Given the description of an element on the screen output the (x, y) to click on. 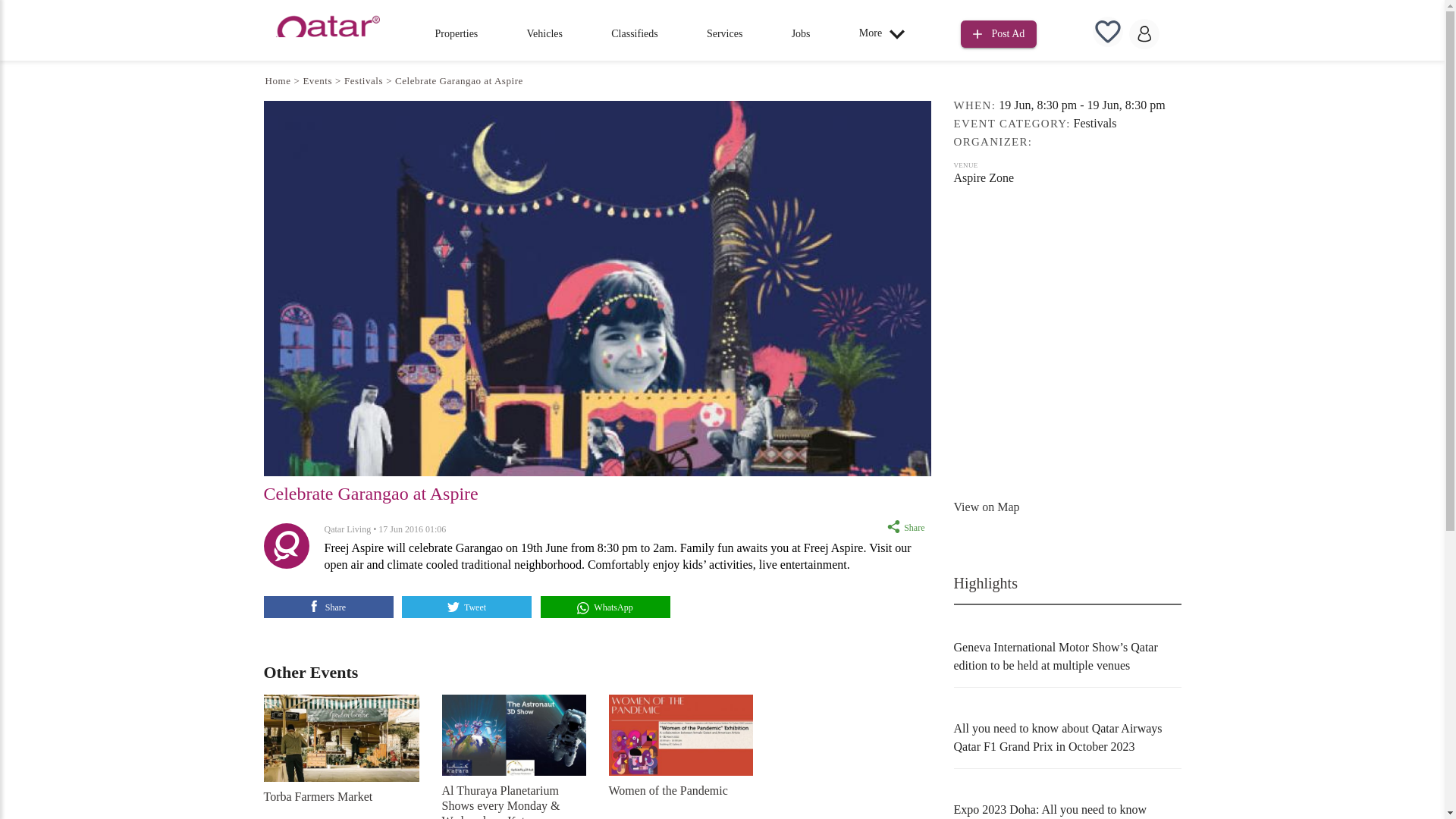
Classifieds (634, 33)
More (885, 33)
Post Ad (998, 34)
Post Ad (998, 32)
View user profile. (347, 529)
